Given the description of an element on the screen output the (x, y) to click on. 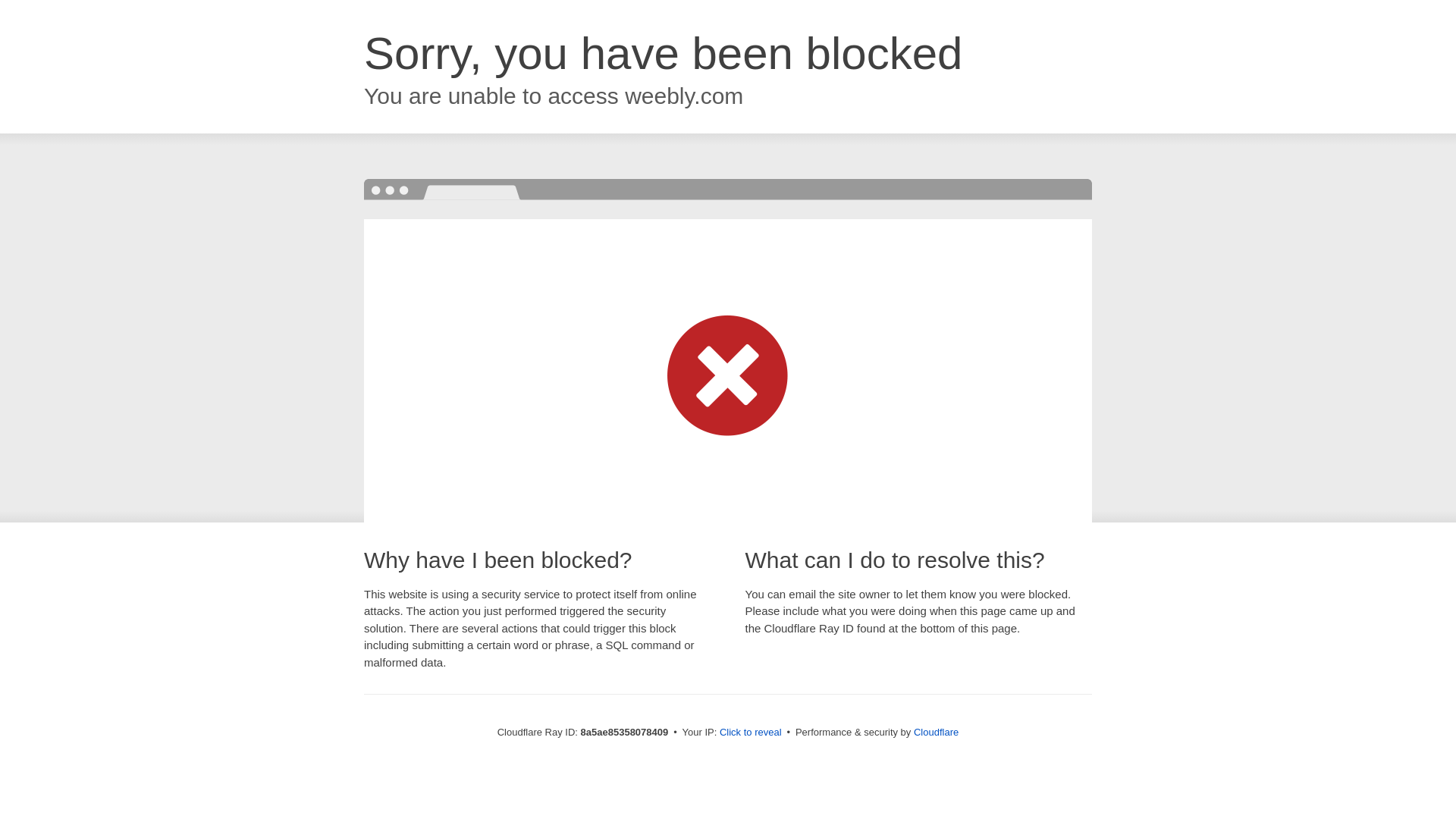
Click to reveal (750, 732)
Cloudflare (936, 731)
